Given the description of an element on the screen output the (x, y) to click on. 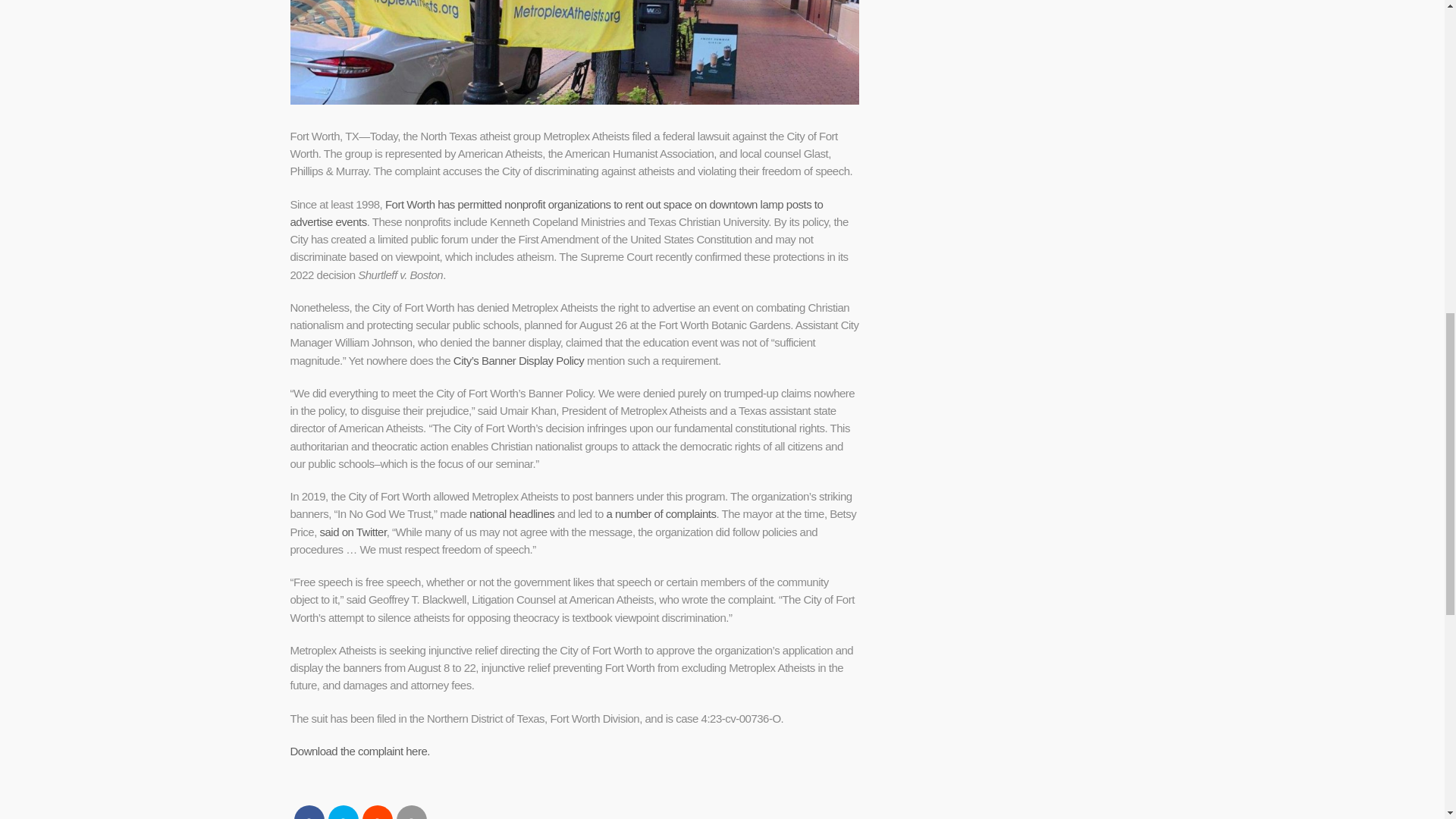
Share on Facebook (309, 812)
Tweet (342, 812)
Email (411, 812)
Submit to Reddit (377, 812)
